Given the description of an element on the screen output the (x, y) to click on. 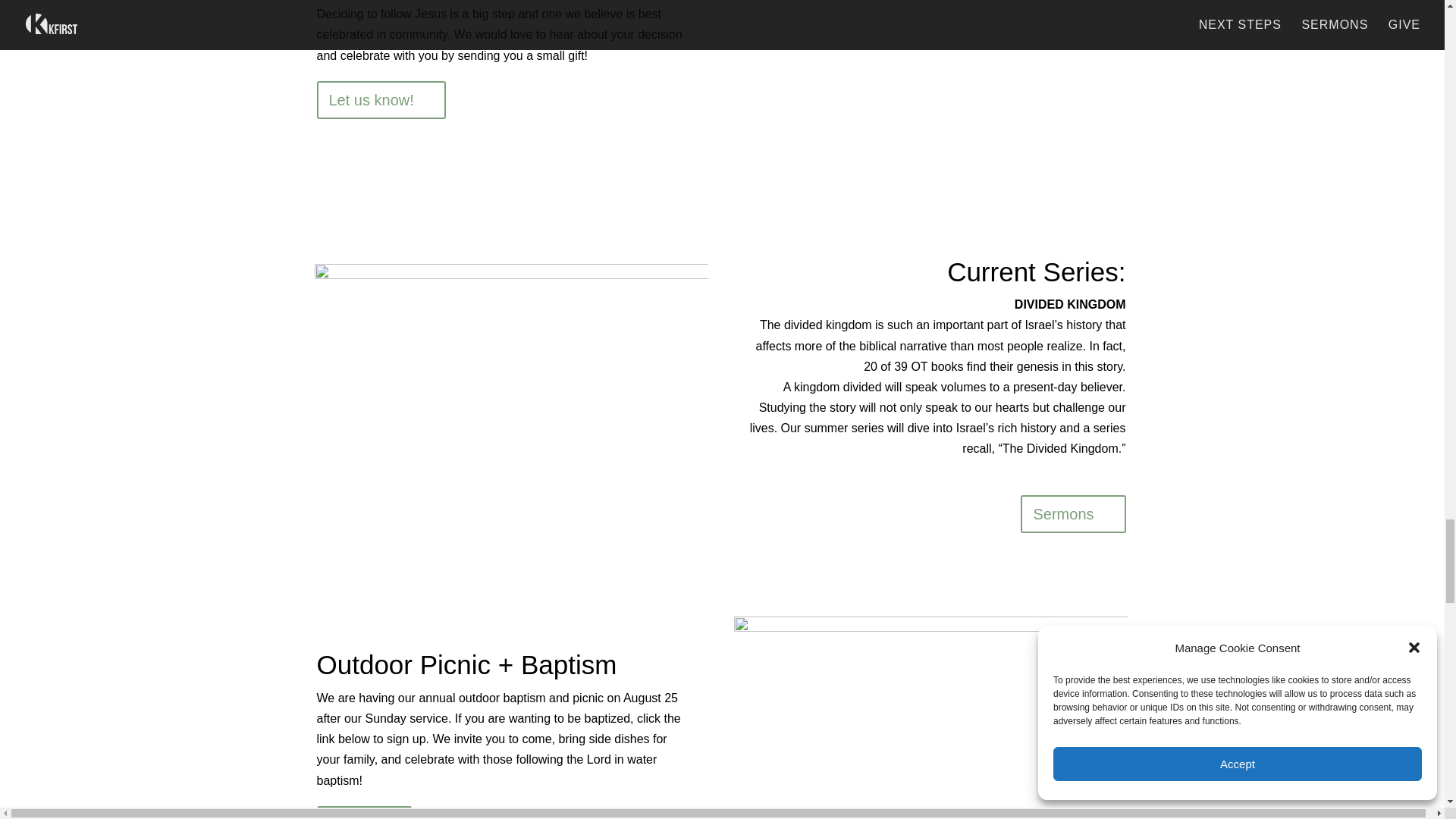
Sermons (1072, 514)
Let us know! (381, 99)
Sign up (364, 812)
